Given the description of an element on the screen output the (x, y) to click on. 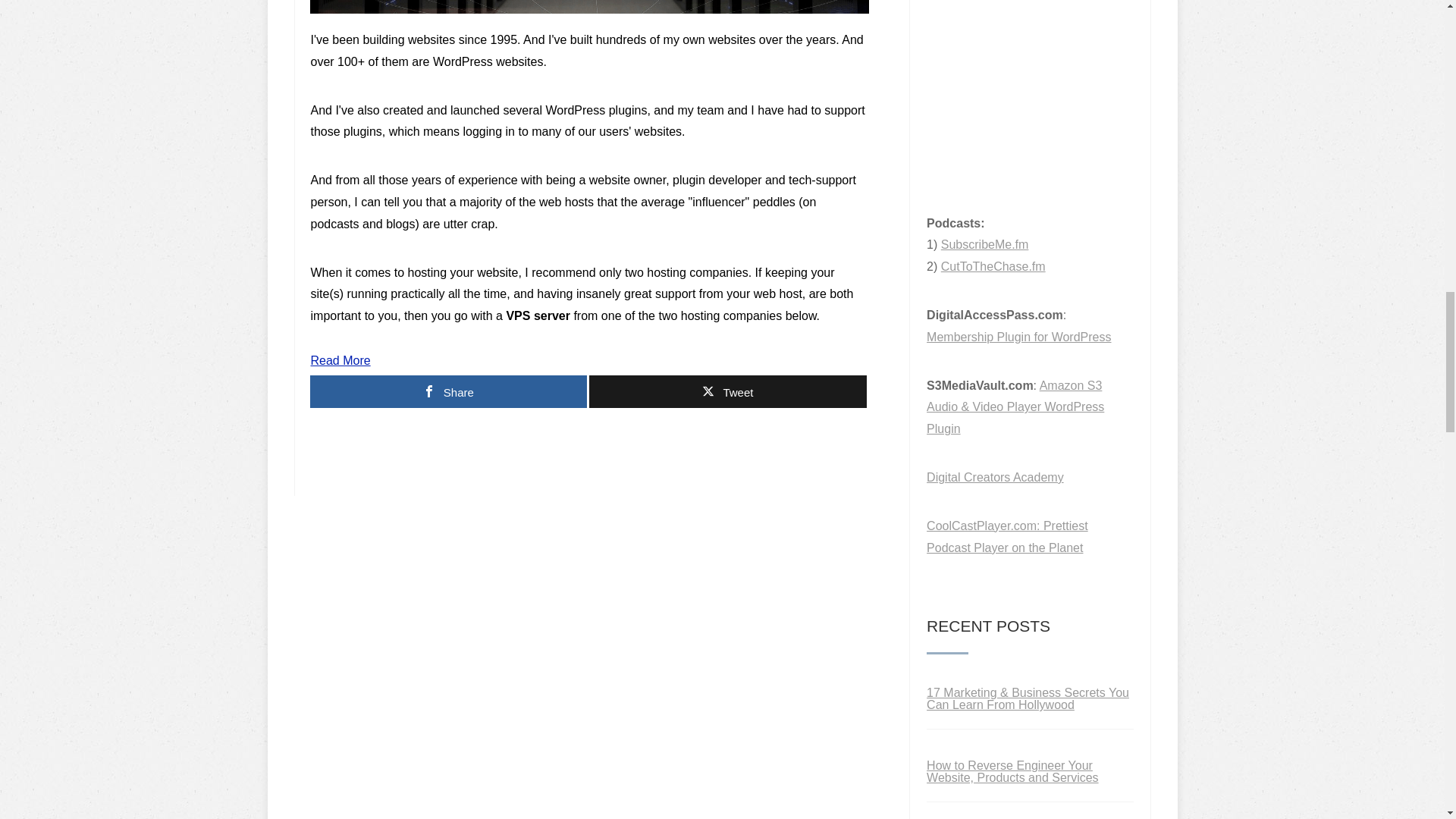
webhosting (587, 6)
